Given the description of an element on the screen output the (x, y) to click on. 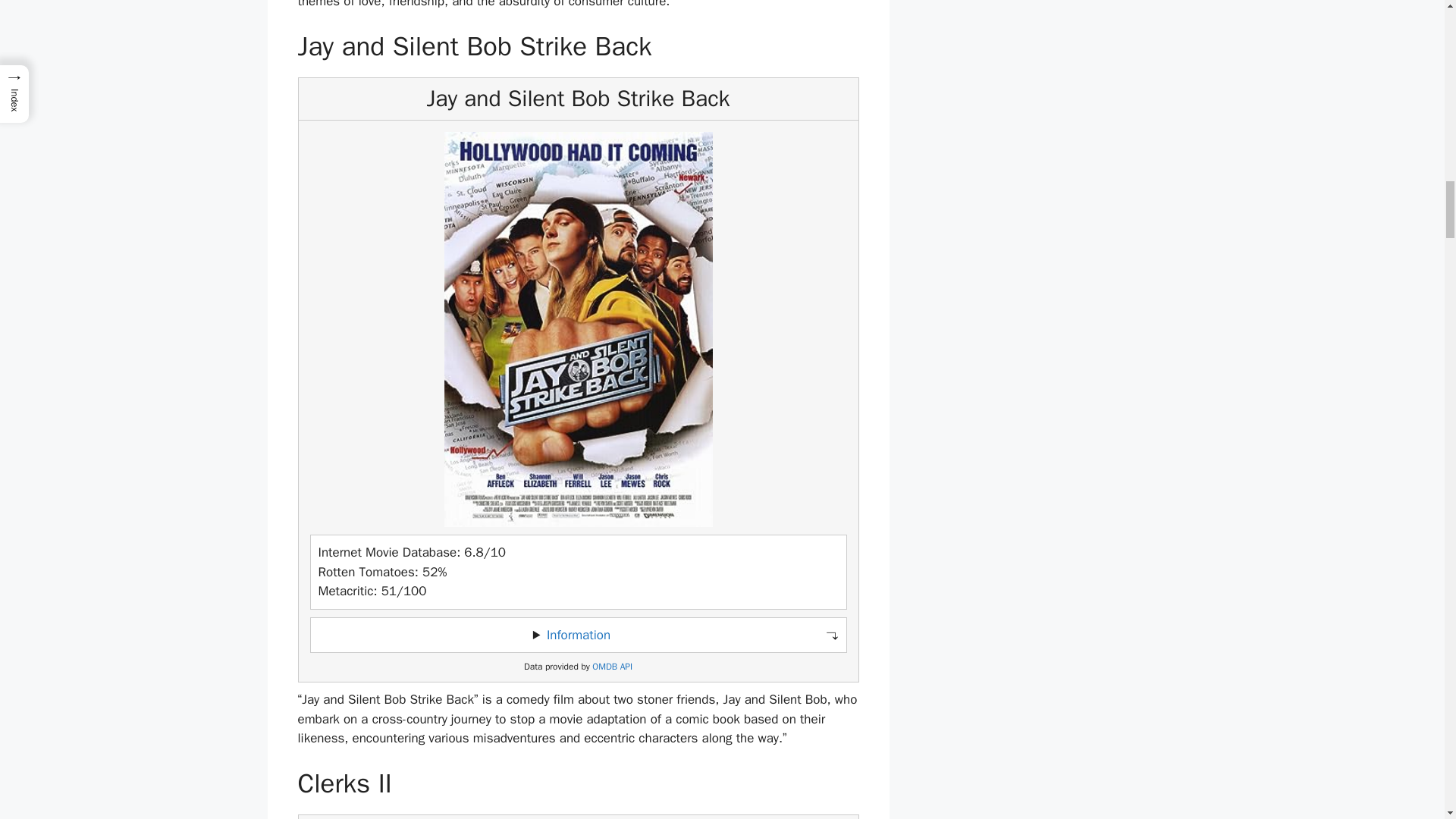
Toggle information (578, 635)
Open Movie Database API (611, 666)
OMDB API (611, 666)
Information (578, 634)
